Given the description of an element on the screen output the (x, y) to click on. 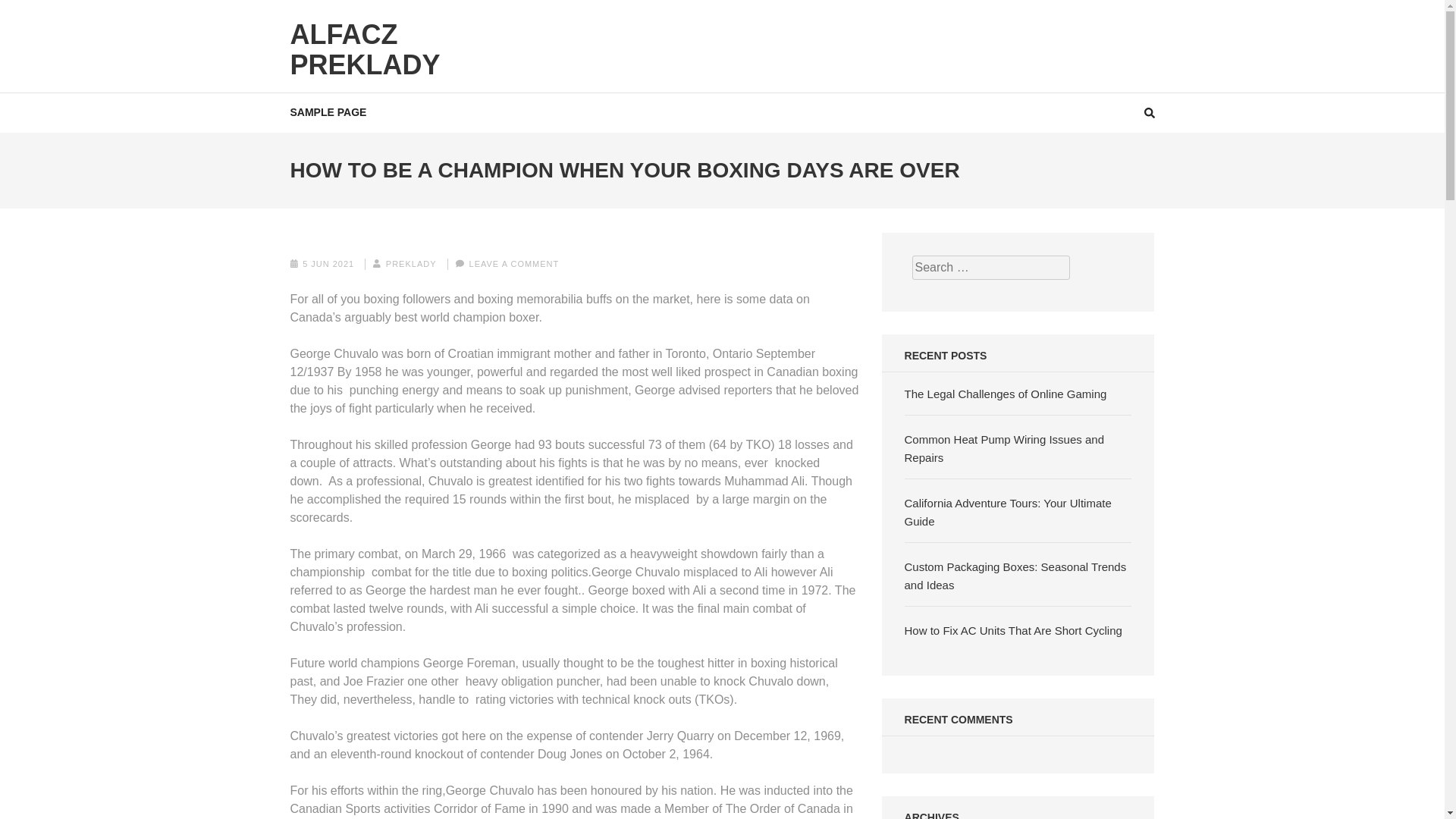
5 JUN 2021 (327, 263)
PREKLADY (410, 263)
SAMPLE PAGE (327, 112)
California Adventure Tours: Your Ultimate Guide (1008, 511)
ALFACZ PREKLADY (364, 49)
Common Heat Pump Wiring Issues and Repairs (1003, 448)
The Legal Challenges of Online Gaming (1005, 393)
Search (1428, 19)
LEAVE A COMMENT (513, 263)
How to Fix AC Units That Are Short Cycling (1013, 630)
Custom Packaging Boxes: Seasonal Trends and Ideas (1015, 575)
